Given the description of an element on the screen output the (x, y) to click on. 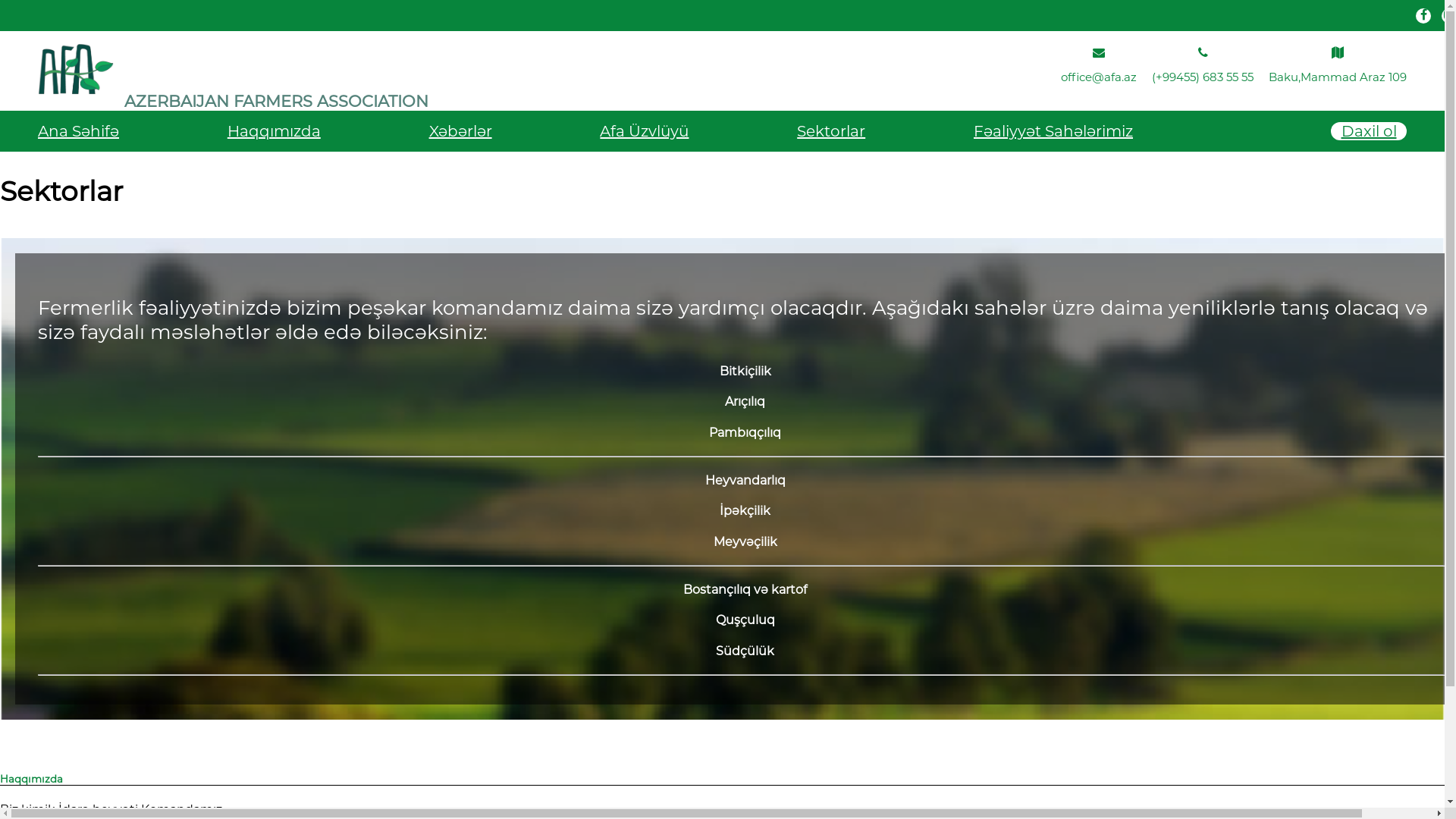
Biz kimik Element type: text (27, 809)
Sektorlar Element type: text (831, 131)
Daxil ol Element type: text (1368, 131)
